Given the description of an element on the screen output the (x, y) to click on. 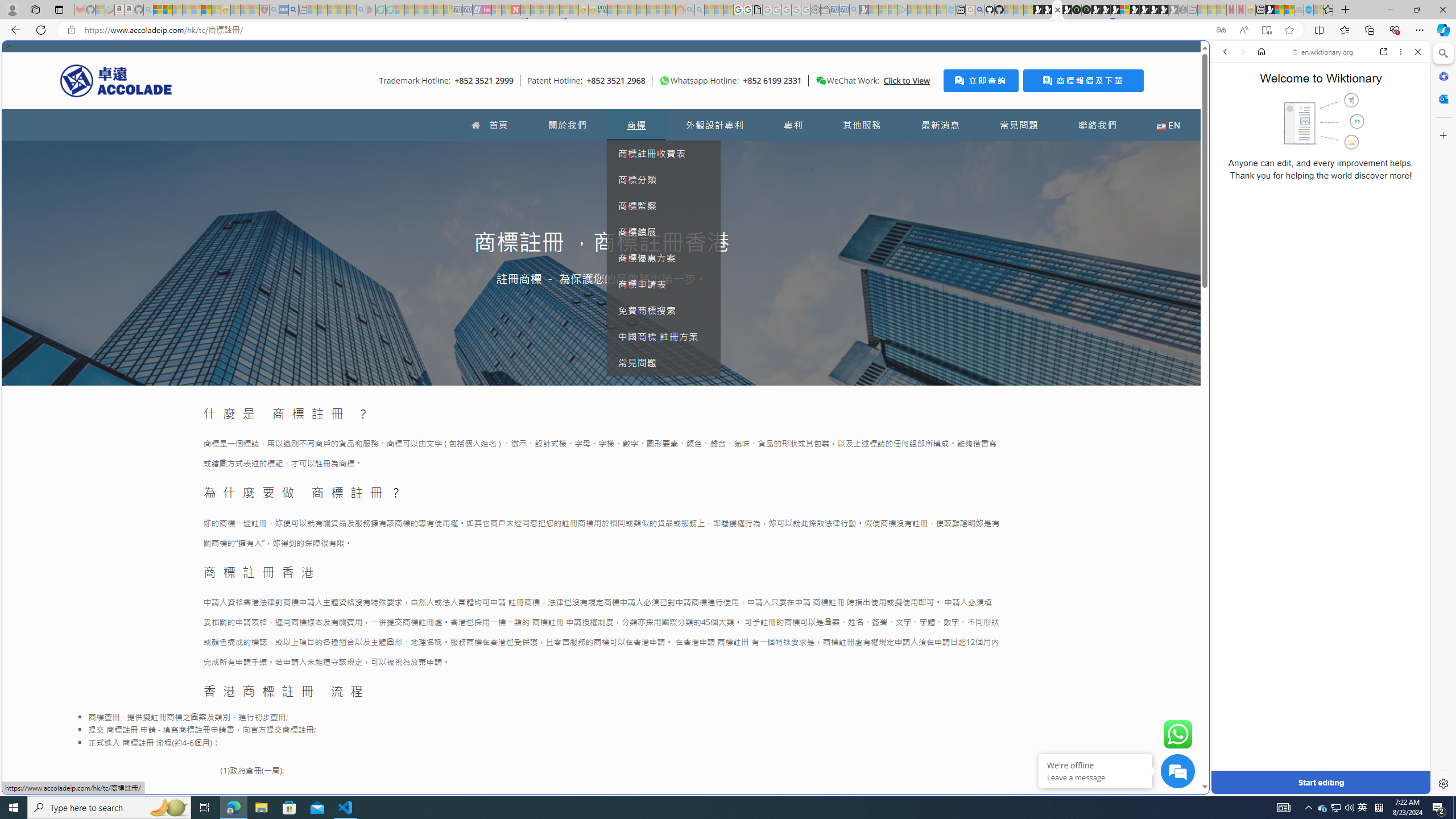
EN (1168, 124)
google_privacy_policy_zh-CN.pdf (1118, 683)
MSN (1118, 536)
en.wiktionary.org (1323, 51)
Accolade IP HK Logo (116, 80)
